Given the description of an element on the screen output the (x, y) to click on. 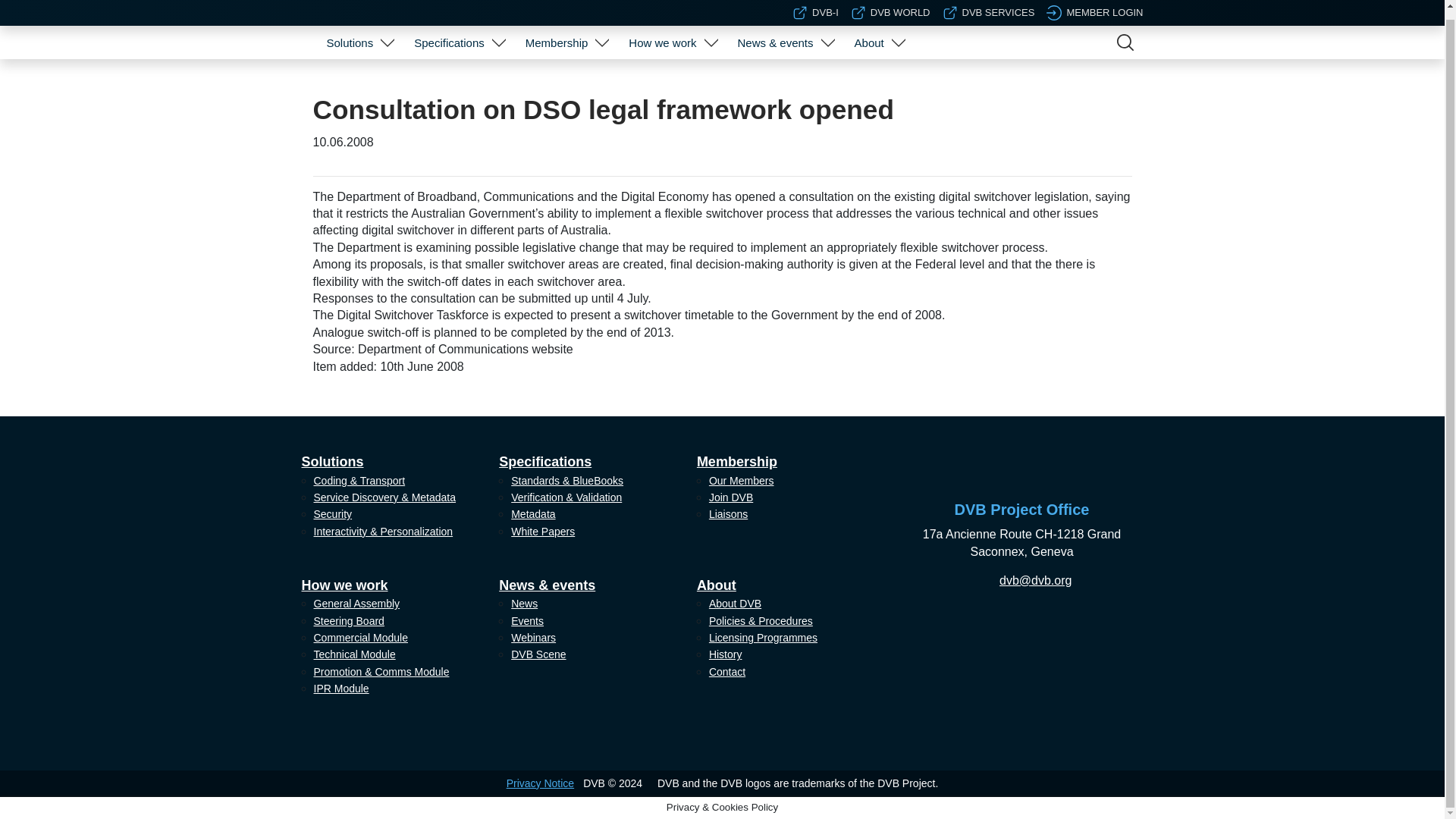
Specifications (448, 33)
MEMBER LOGIN (1094, 6)
DVB-I (815, 6)
DVB SERVICES (988, 6)
News (783, 71)
DVB WORLD (890, 6)
About DVB (877, 71)
General Assembly (670, 71)
How we work (662, 33)
About (868, 33)
Our Members (564, 71)
Solutions (349, 33)
Membership (556, 33)
